Given the description of an element on the screen output the (x, y) to click on. 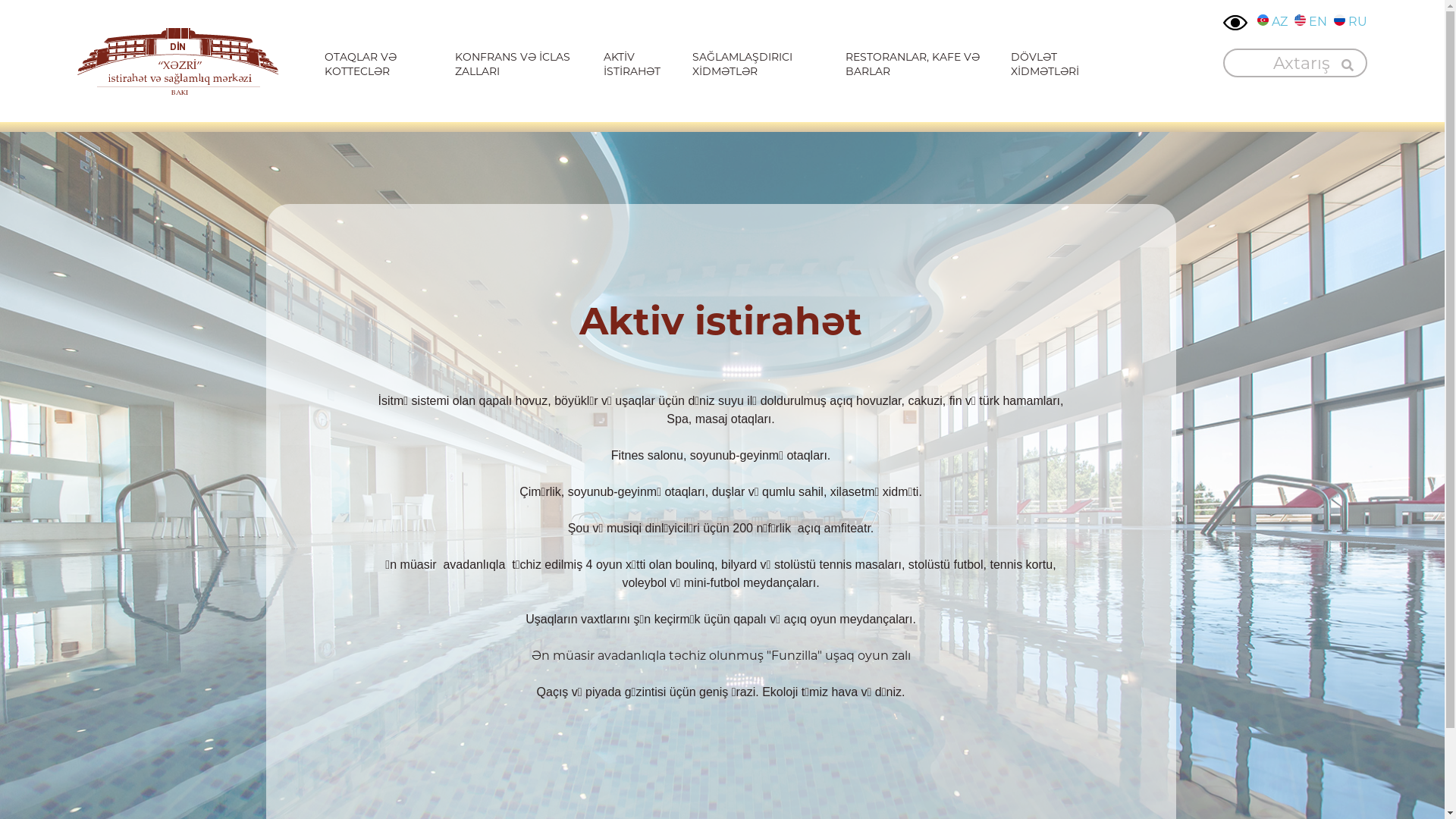
EN Element type: text (1310, 21)
Xezri Element type: text (178, 61)
RU Element type: text (1350, 21)
AZ Element type: text (1272, 21)
